Given the description of an element on the screen output the (x, y) to click on. 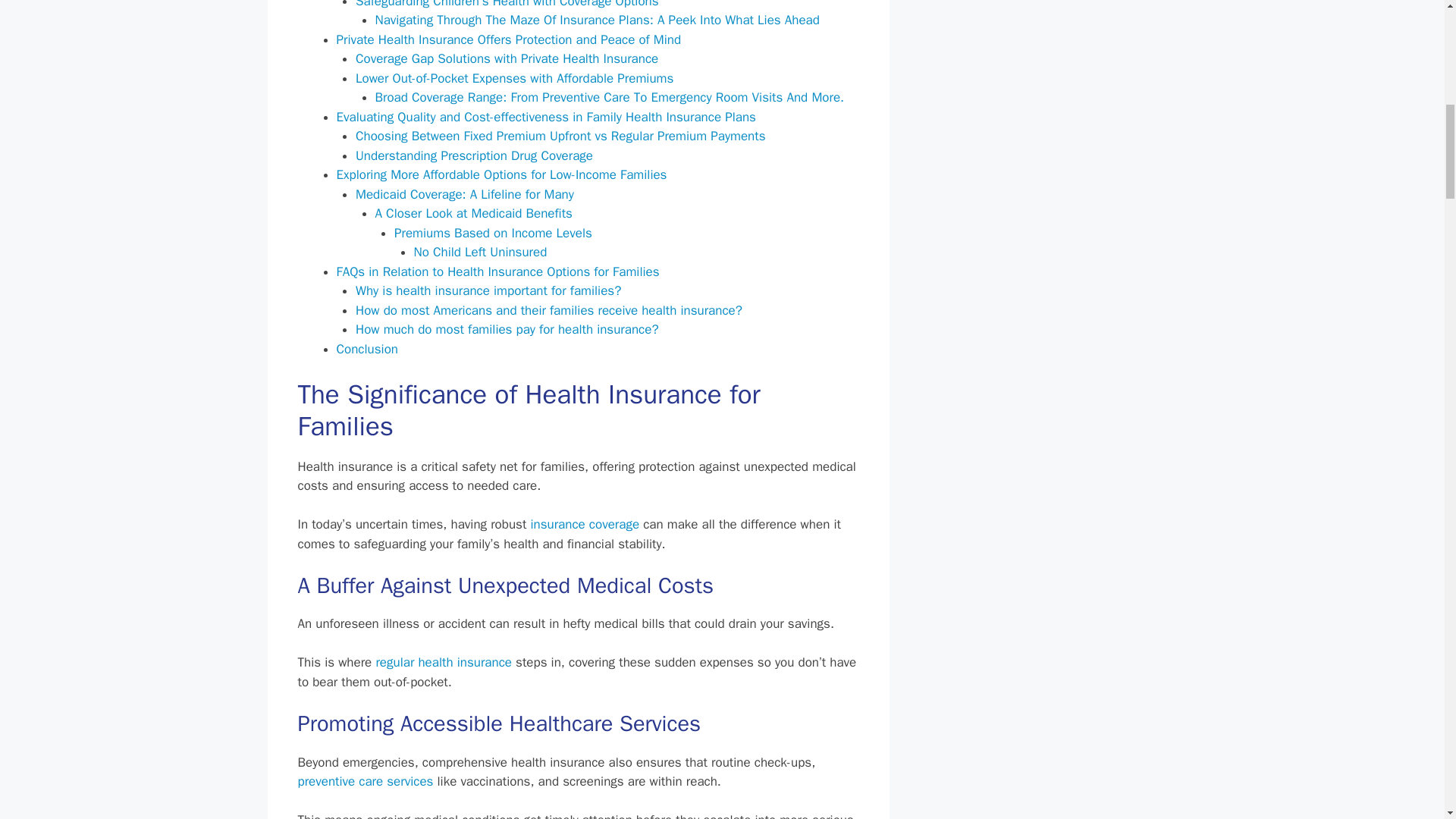
Private Health Insurance Offers Protection and Peace of Mind (508, 39)
No Child Left Uninsured (480, 252)
regular health insurance (443, 662)
Conclusion (366, 349)
A Closer Look at Medicaid Benefits (473, 213)
Premiums Based on Income Levels (493, 232)
Understanding Prescription Drug Coverage (473, 155)
Coverage Gap Solutions with Private Health Insurance (506, 58)
